Given the description of an element on the screen output the (x, y) to click on. 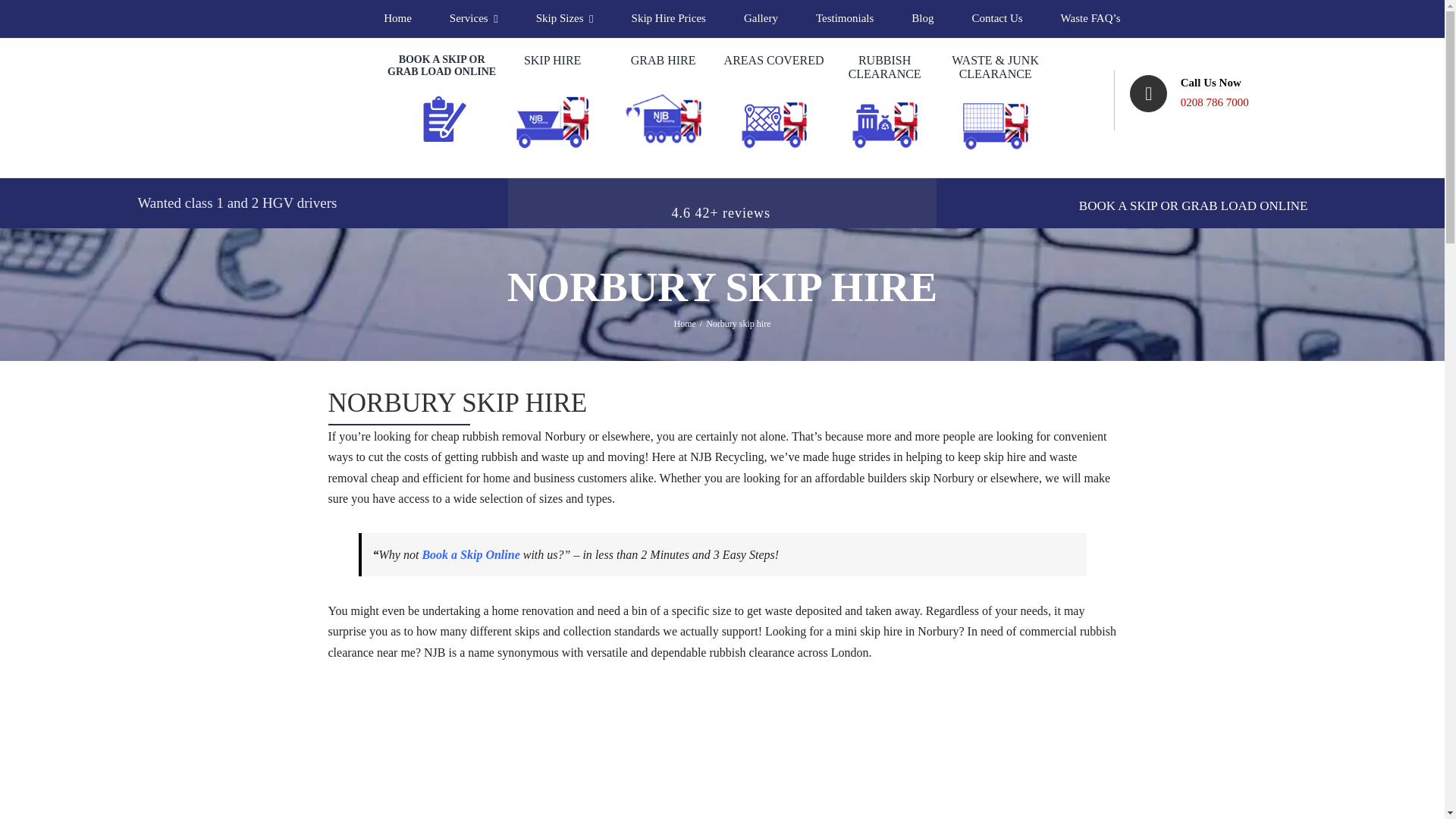
feet-1 (722, 683)
NJB-truck-with-man (448, 683)
Skip Hire Prices (668, 18)
24e (995, 683)
Skip Sizes (564, 18)
Services (473, 18)
Home (397, 18)
